Given the description of an element on the screen output the (x, y) to click on. 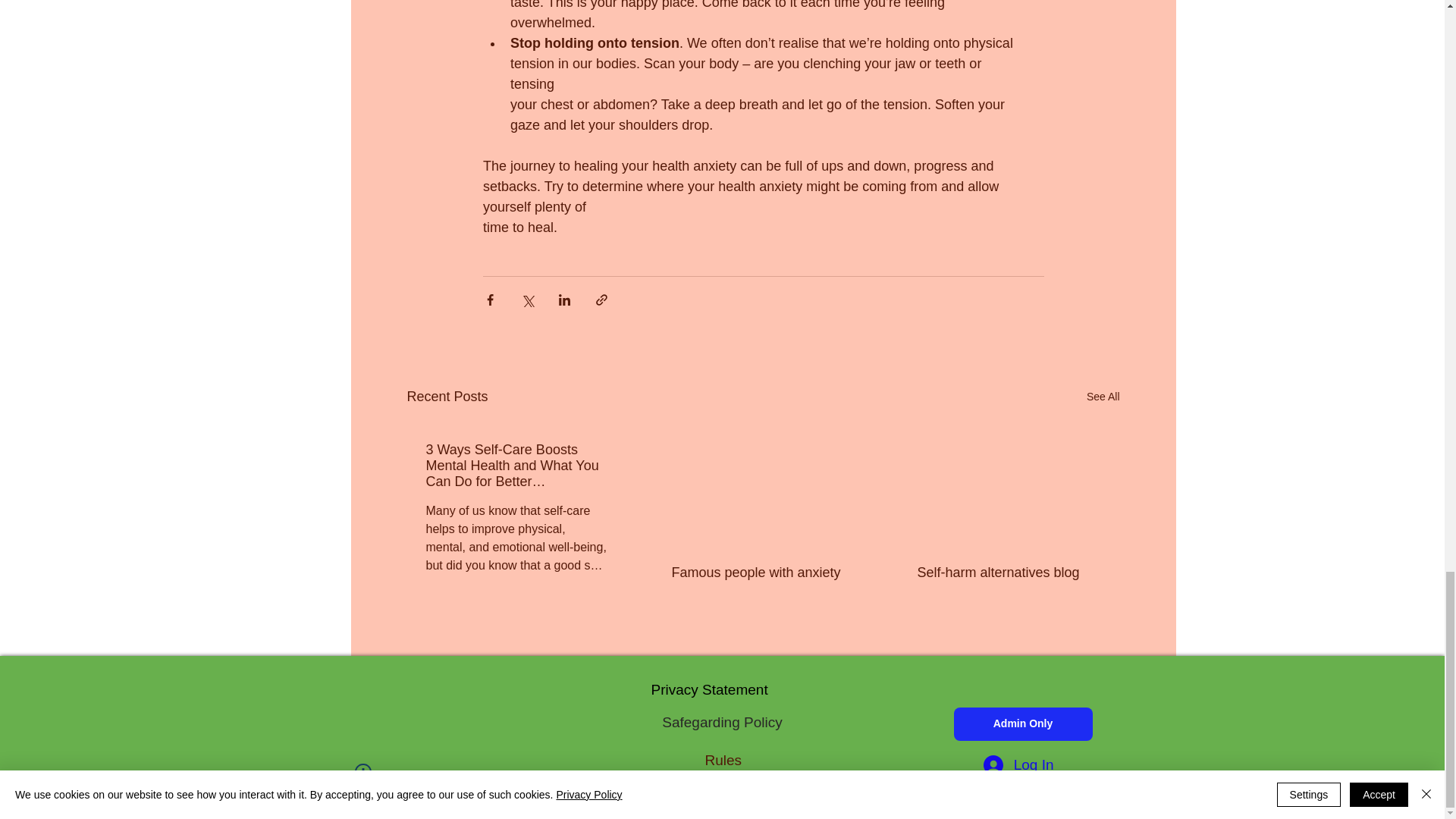
Safegarding Policy (722, 722)
Admin Only (1023, 724)
Privacy Statement (708, 689)
Self-harm alternatives blog (1008, 572)
Rules (756, 761)
See All (1102, 396)
Log In (1018, 765)
Famous people with anxiety (762, 572)
